Given the description of an element on the screen output the (x, y) to click on. 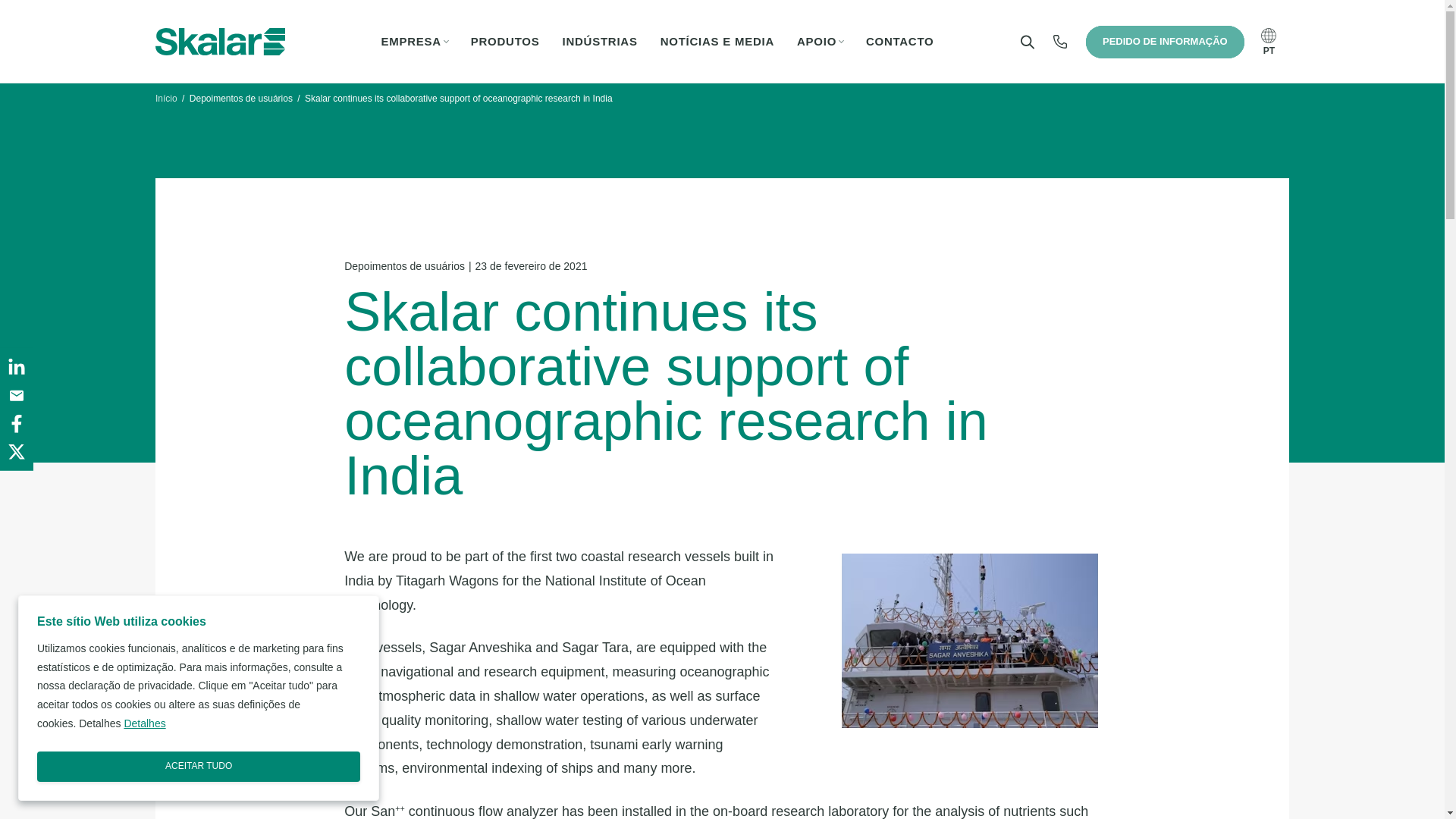
CONTACTO (900, 41)
PRODUTOS (505, 41)
Sagar Anveshika (969, 640)
